Given the description of an element on the screen output the (x, y) to click on. 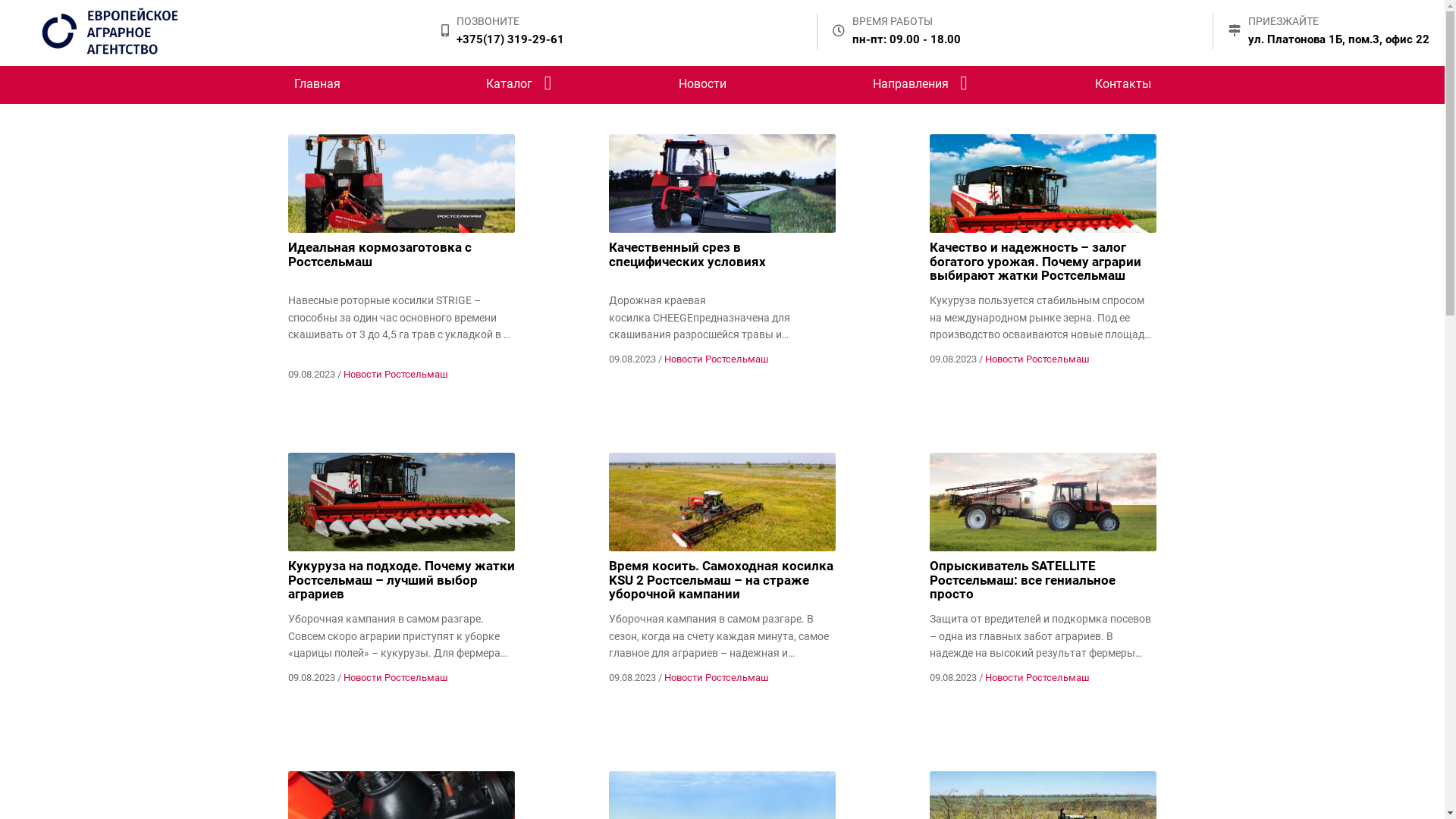
+375(17) 319-29-61 Element type: text (510, 38)
